Given the description of an element on the screen output the (x, y) to click on. 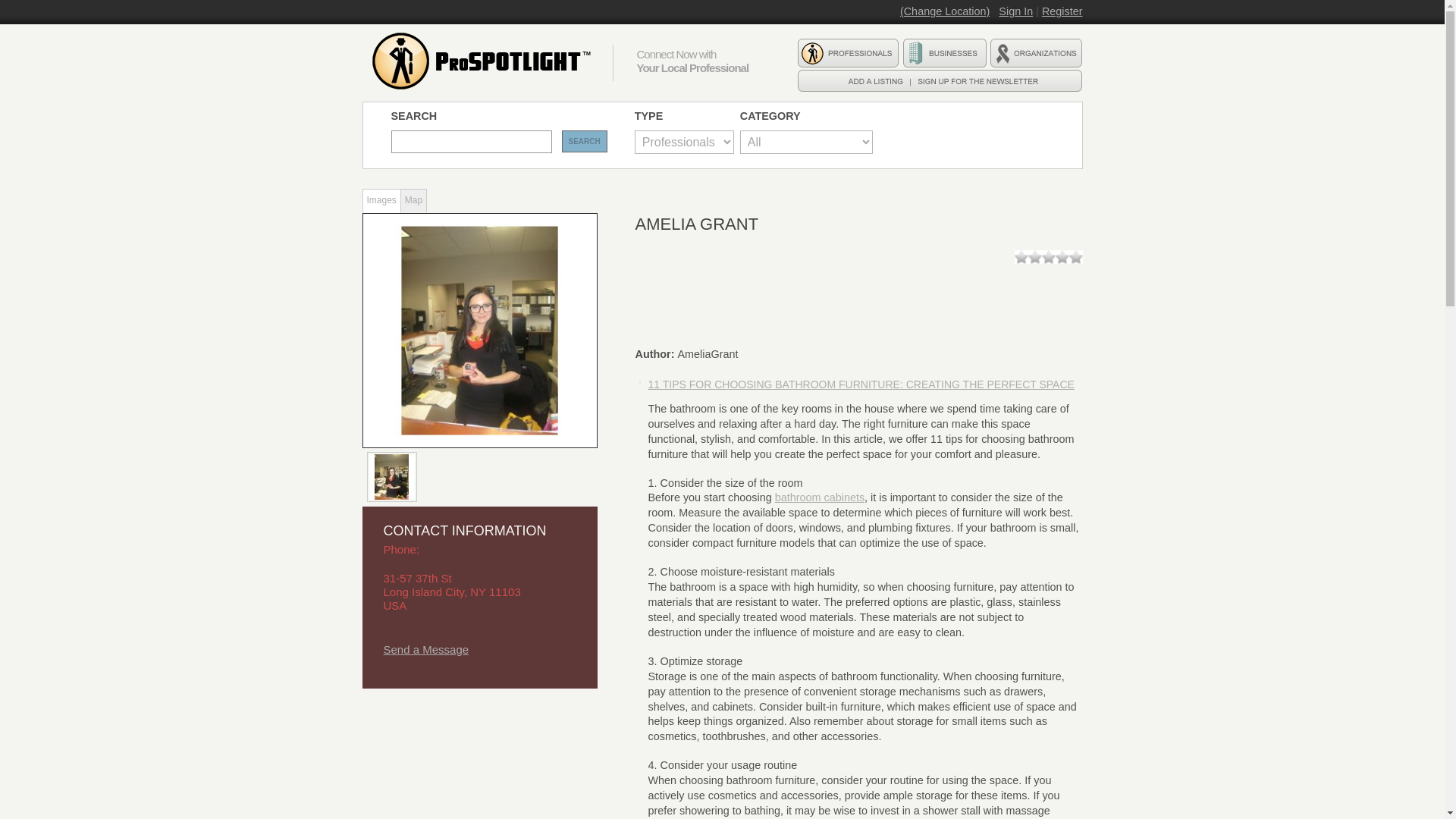
bathroom cabinets (819, 497)
SEARCH (583, 141)
Map (413, 200)
Advertisement (911, 297)
Images (381, 200)
SEARCH (583, 141)
Send a Message (426, 649)
Register (1062, 10)
Advertisement (475, 770)
Sign In (1015, 10)
